Given the description of an element on the screen output the (x, y) to click on. 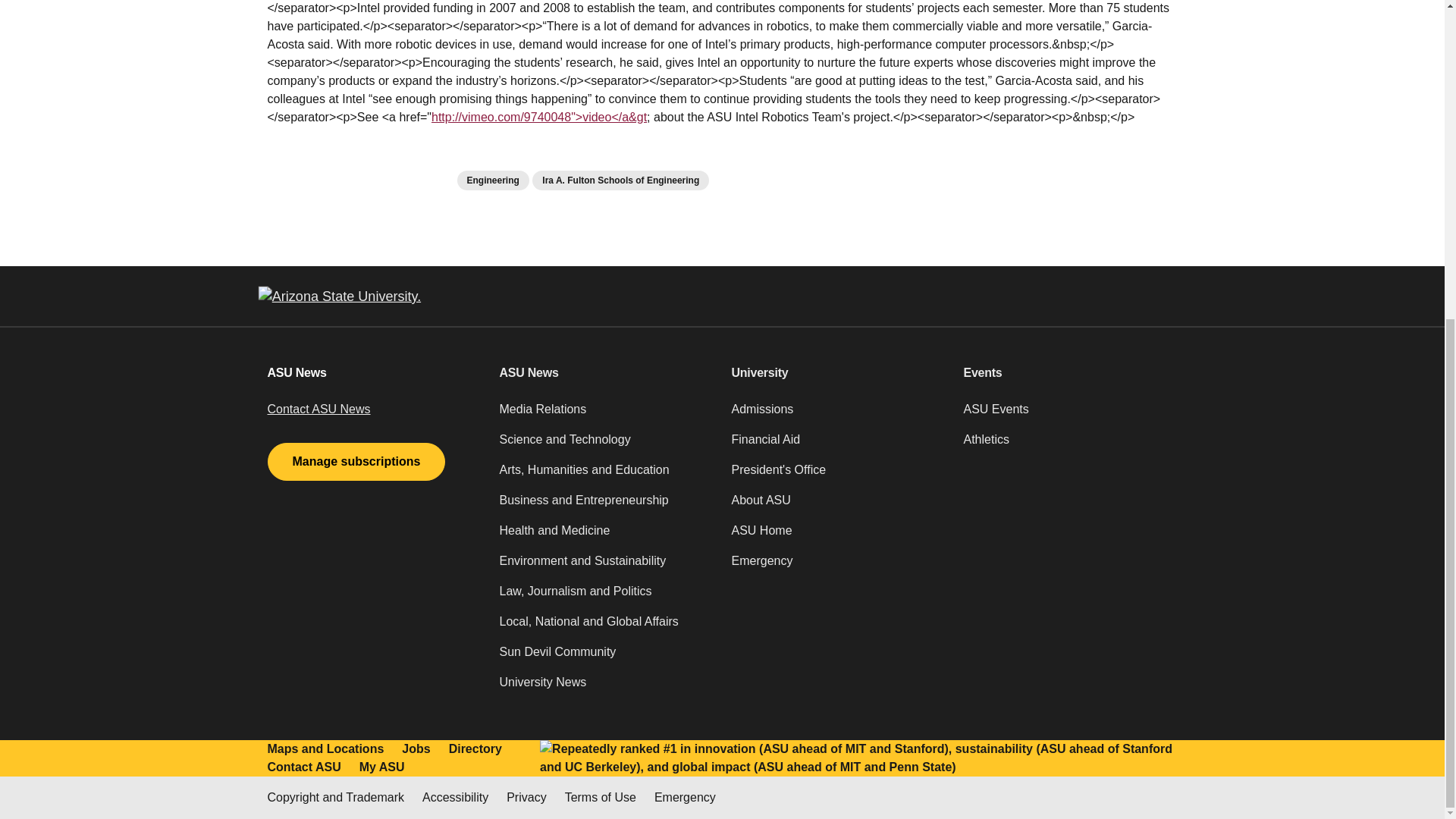
Environment and Sustainability (606, 567)
Ira A. Fulton Schools of Engineering (620, 180)
Engineering (492, 180)
Contact ASU (303, 767)
ASU Home (837, 536)
Maps and Locations (325, 749)
Science and Technology (606, 445)
President's Office (837, 476)
ASU News (606, 372)
Athletics (1069, 445)
